Given the description of an element on the screen output the (x, y) to click on. 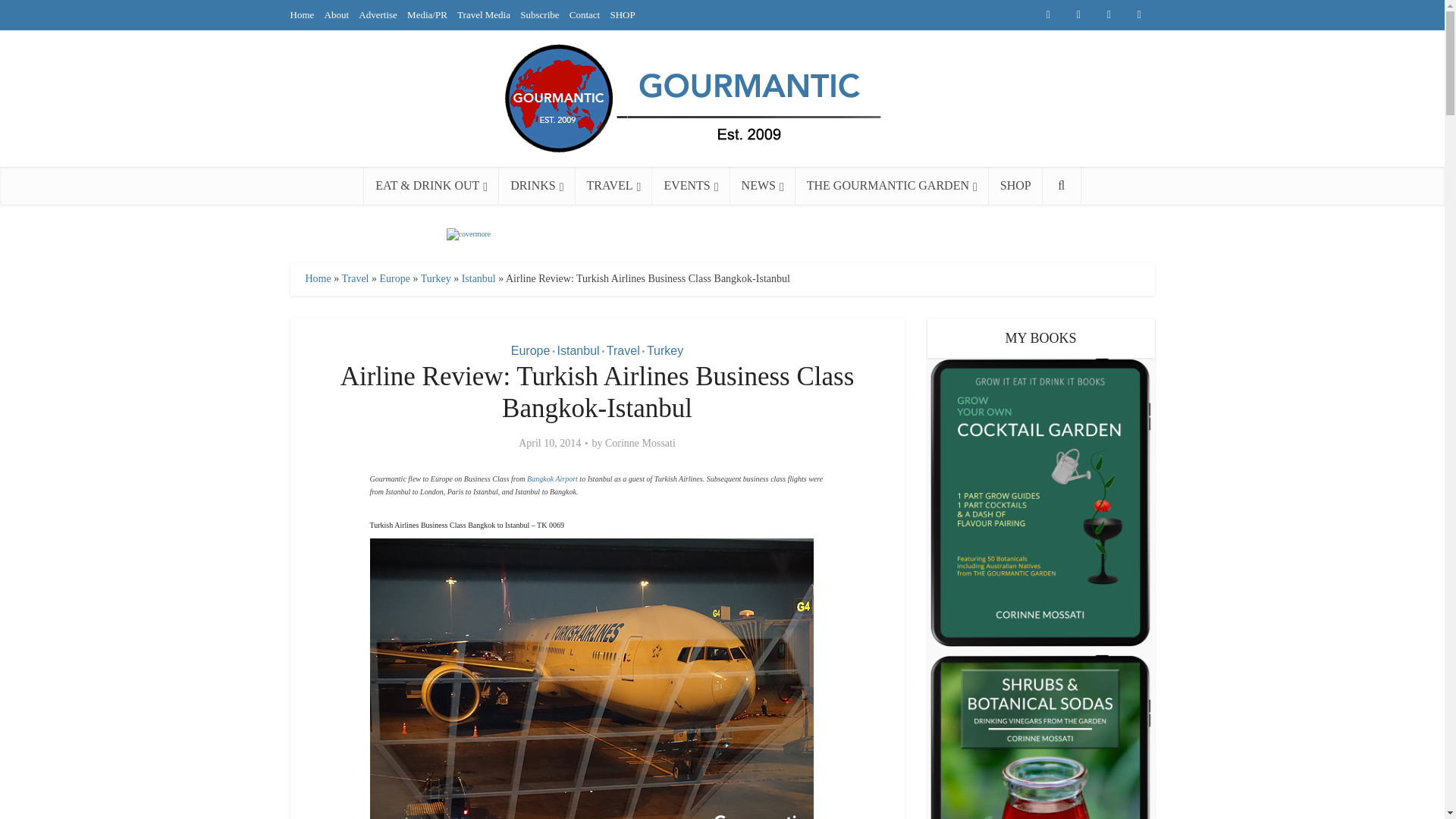
Home (301, 14)
DRINKS (537, 185)
Advertise (377, 14)
Alcoholic Beverages (537, 185)
TRAVEL (613, 185)
What to Do at Bangkok Airport (552, 479)
SHOP (622, 14)
Travel Media (484, 14)
Contact (584, 14)
Subscribe (539, 14)
About (336, 14)
